Given the description of an element on the screen output the (x, y) to click on. 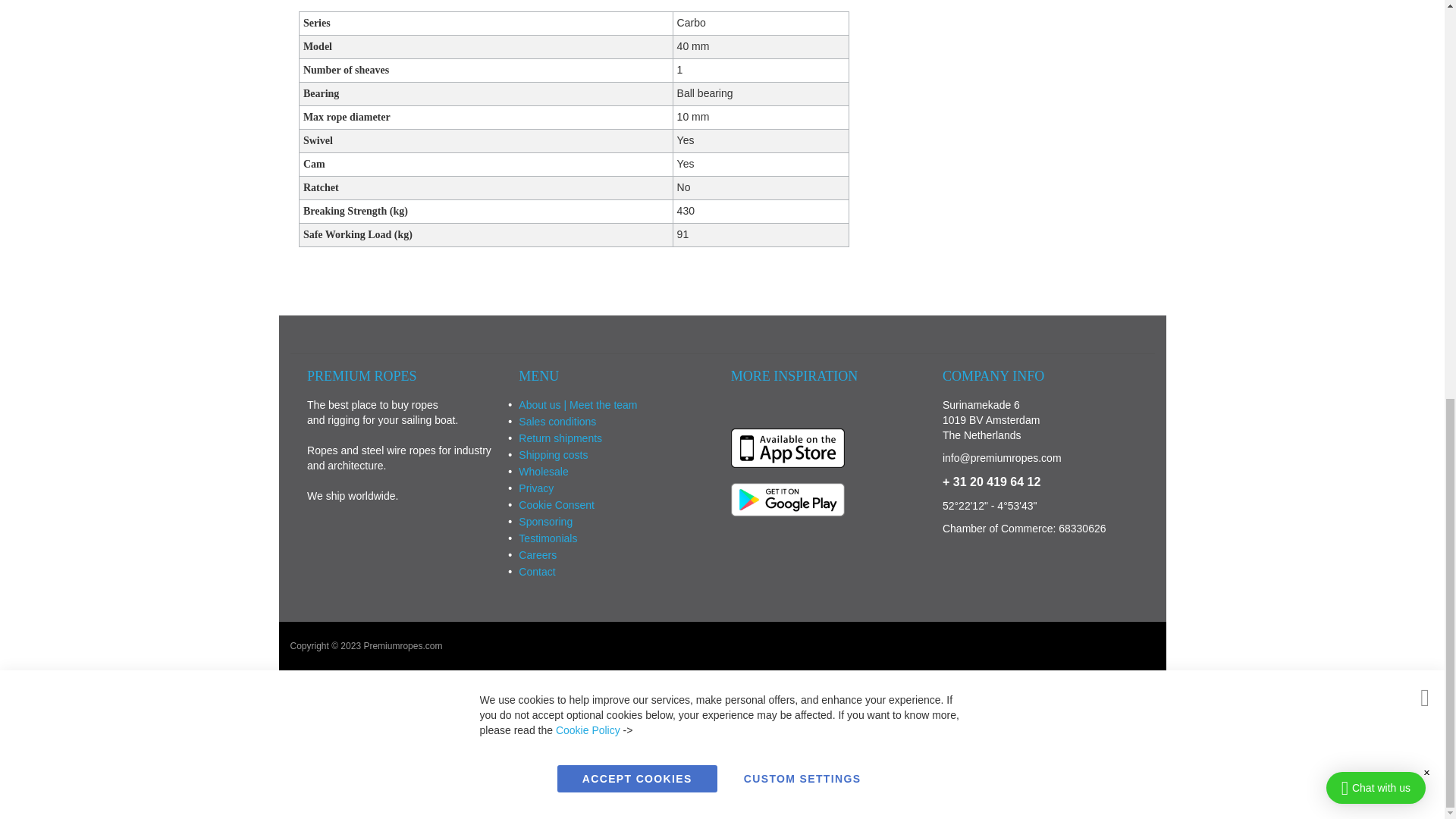
About Premiumropes (577, 404)
Sales conditions (556, 421)
